Given the description of an element on the screen output the (x, y) to click on. 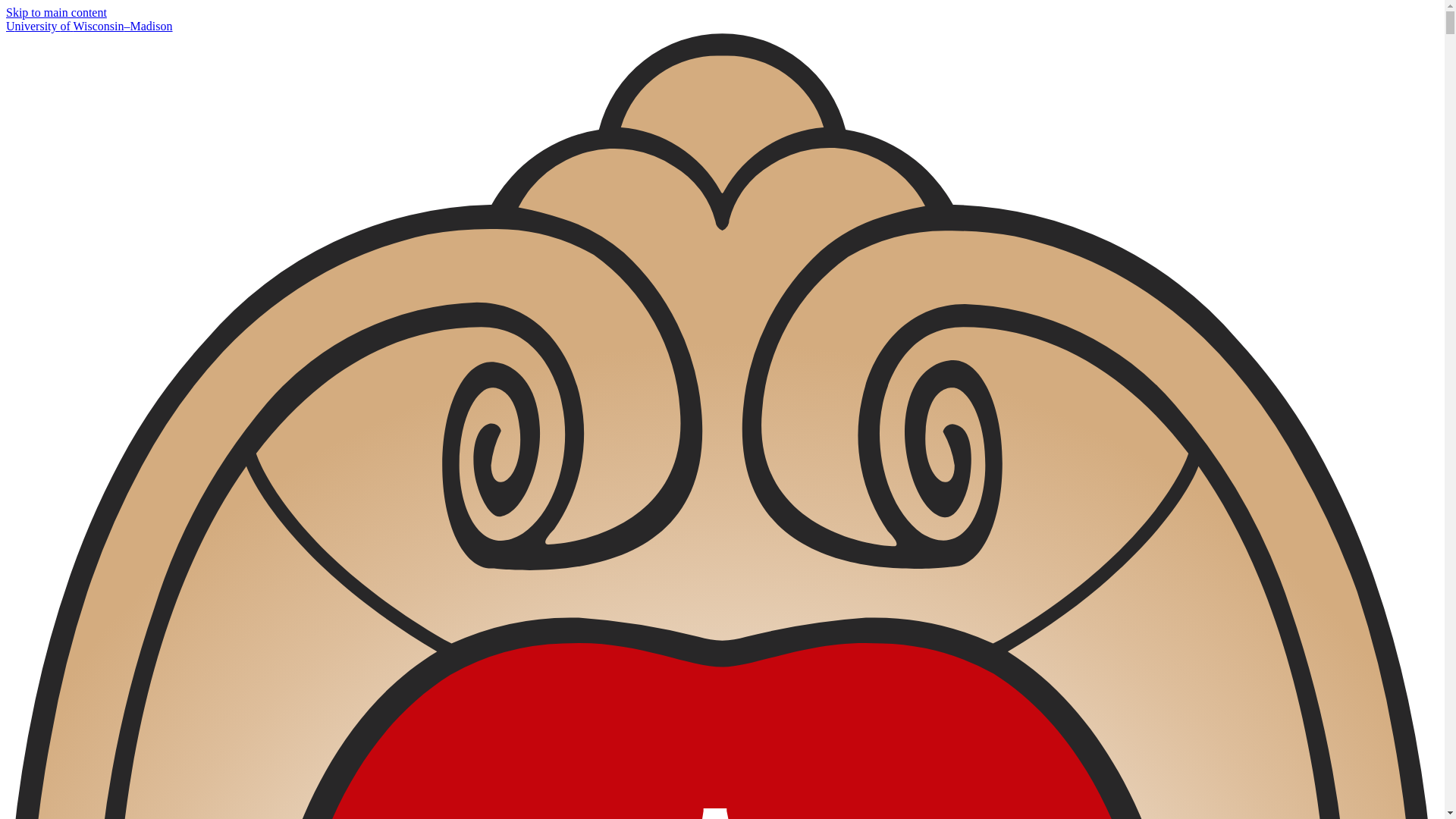
Skip to main content (55, 11)
